Given the description of an element on the screen output the (x, y) to click on. 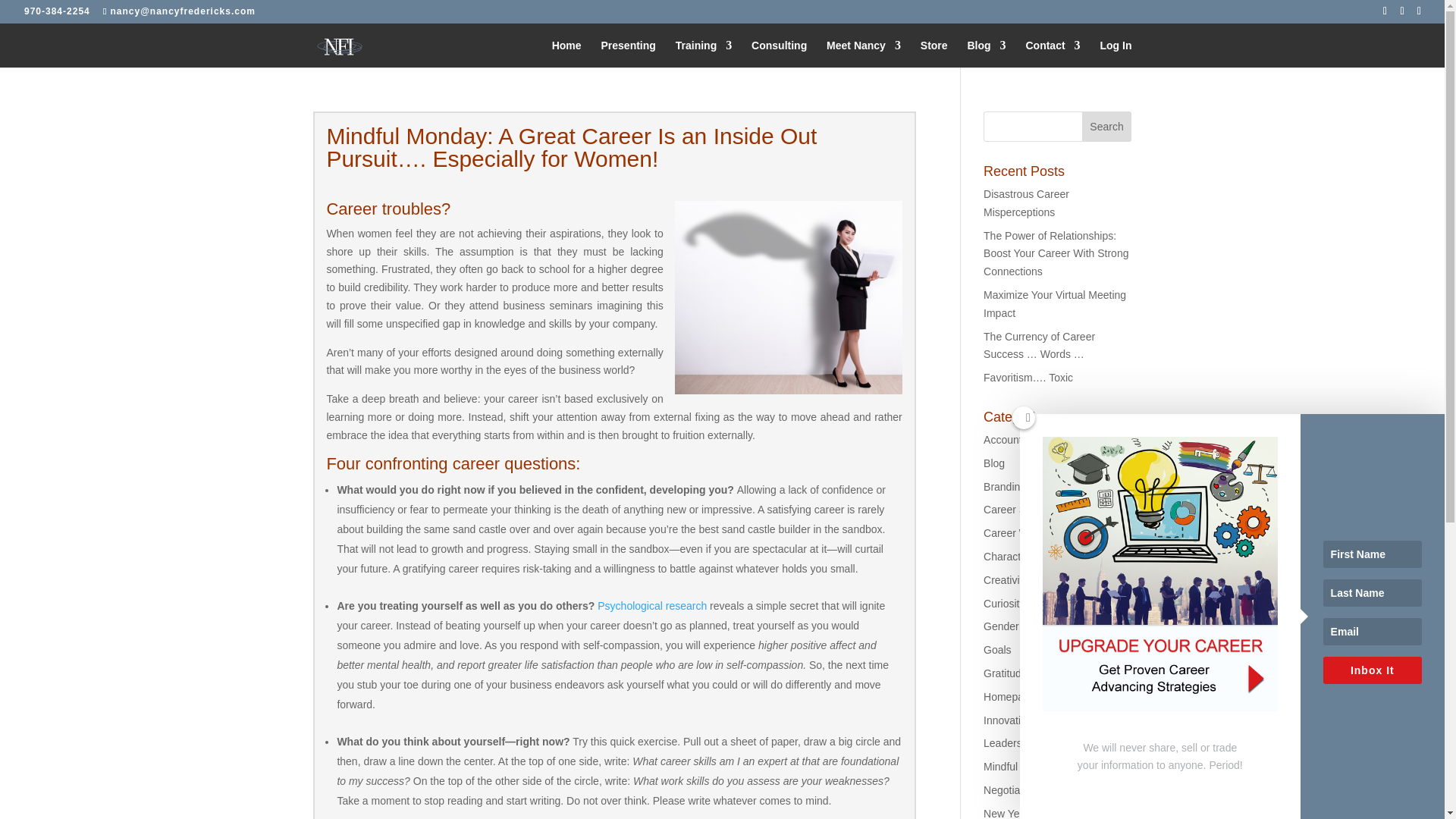
Store (933, 53)
Search (1106, 126)
Training (703, 53)
Meet Nancy (864, 53)
Presenting (627, 53)
Consulting (778, 53)
Contact (1052, 53)
Blog (986, 53)
Log In (1115, 53)
Nancy Fredericks International Presenting Topics (627, 53)
Home (565, 53)
